Given the description of an element on the screen output the (x, y) to click on. 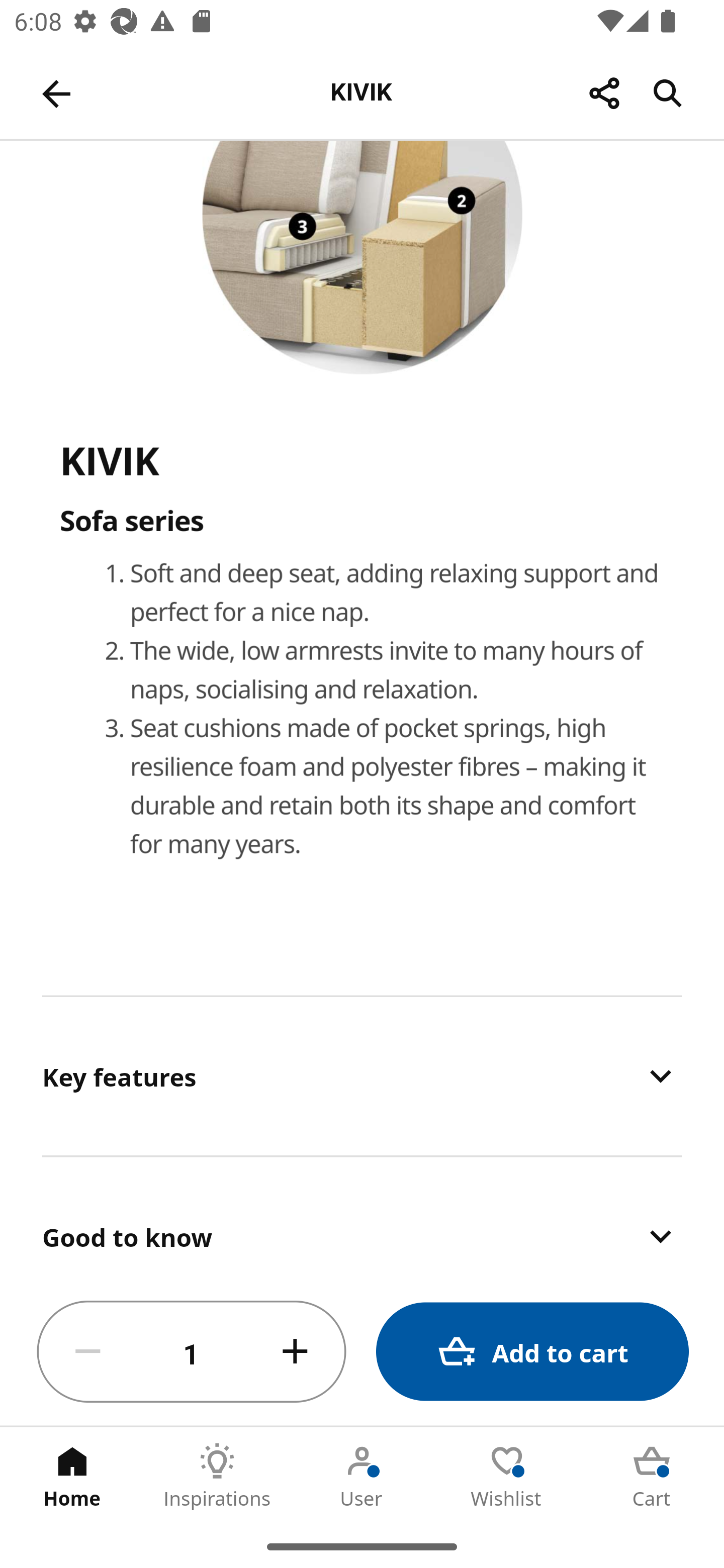
Key features (361, 1076)
Good to know (361, 1217)
Add to cart (531, 1352)
1 (191, 1352)
Home
Tab 1 of 5 (72, 1476)
Inspirations
Tab 2 of 5 (216, 1476)
User
Tab 3 of 5 (361, 1476)
Wishlist
Tab 4 of 5 (506, 1476)
Cart
Tab 5 of 5 (651, 1476)
